Given the description of an element on the screen output the (x, y) to click on. 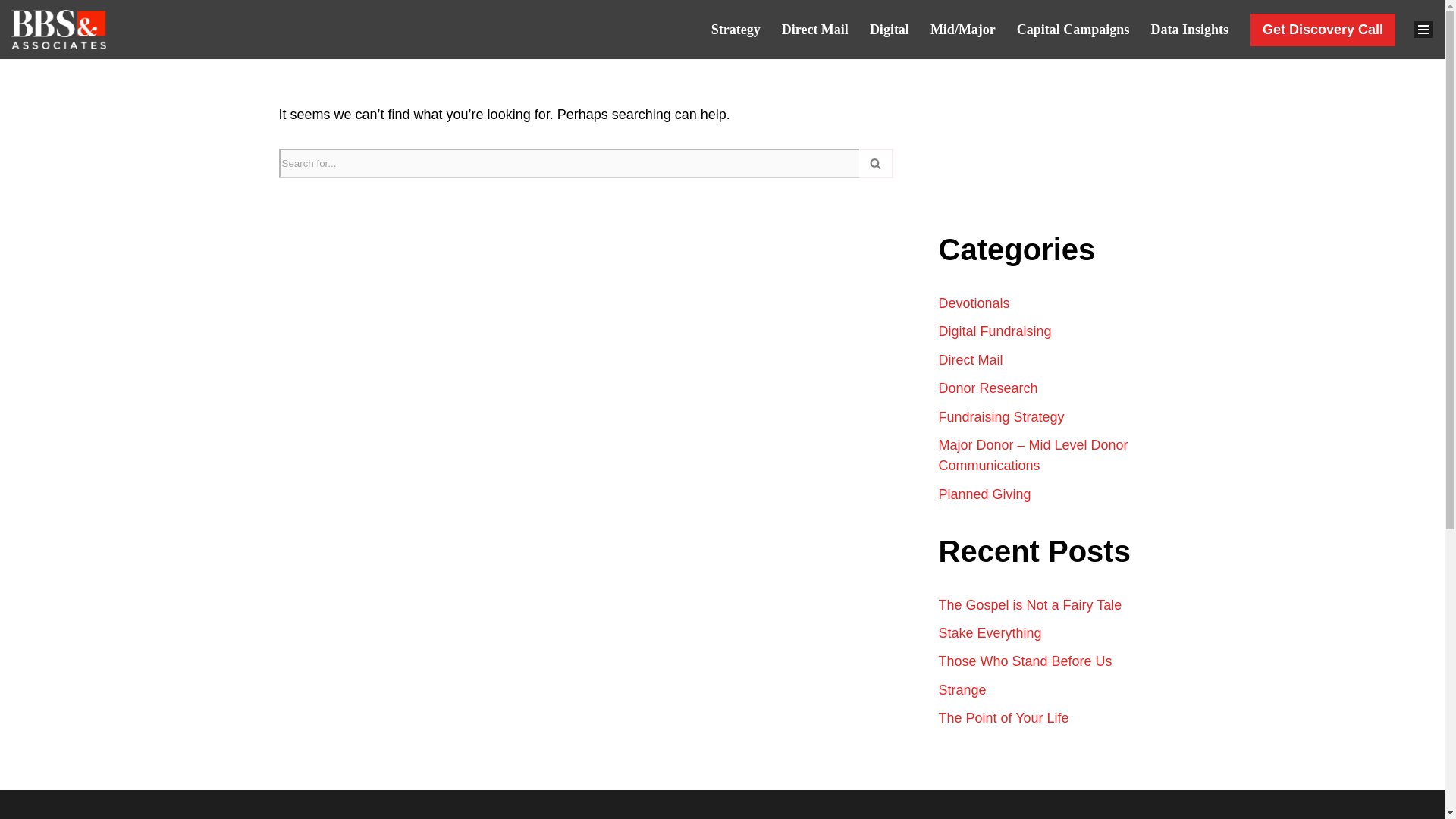
Data Insights (1189, 29)
Navigation Menu (1422, 88)
Direct Mail (814, 29)
Skip to content (11, 31)
Digital (888, 29)
Strategy (735, 29)
Get Discovery Call (1322, 29)
Navigation Menu (1422, 29)
Capital Campaigns (1072, 29)
Navigation Menu (1420, 17)
